Given the description of an element on the screen output the (x, y) to click on. 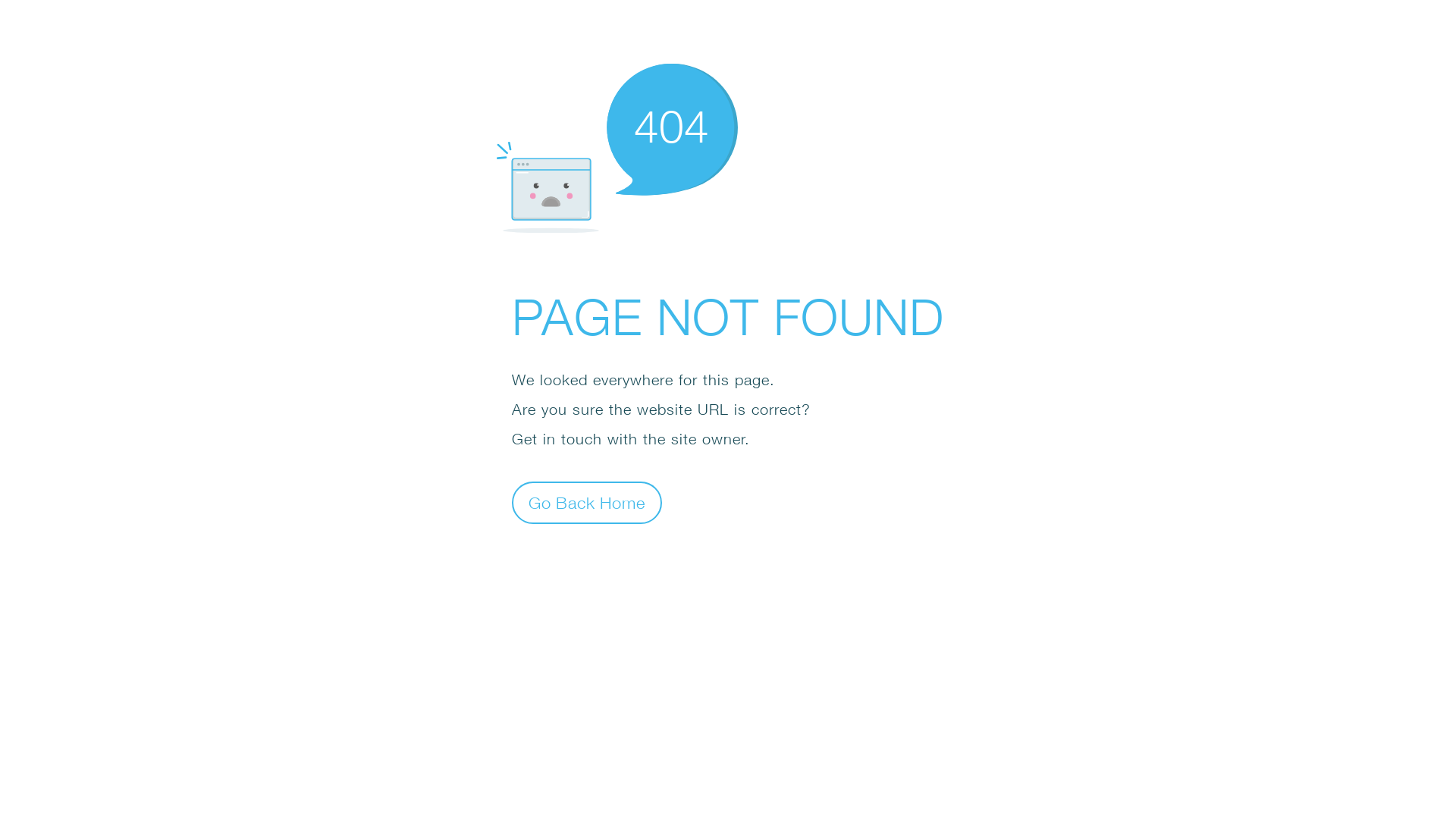
Go Back Home Element type: text (586, 502)
